Given the description of an element on the screen output the (x, y) to click on. 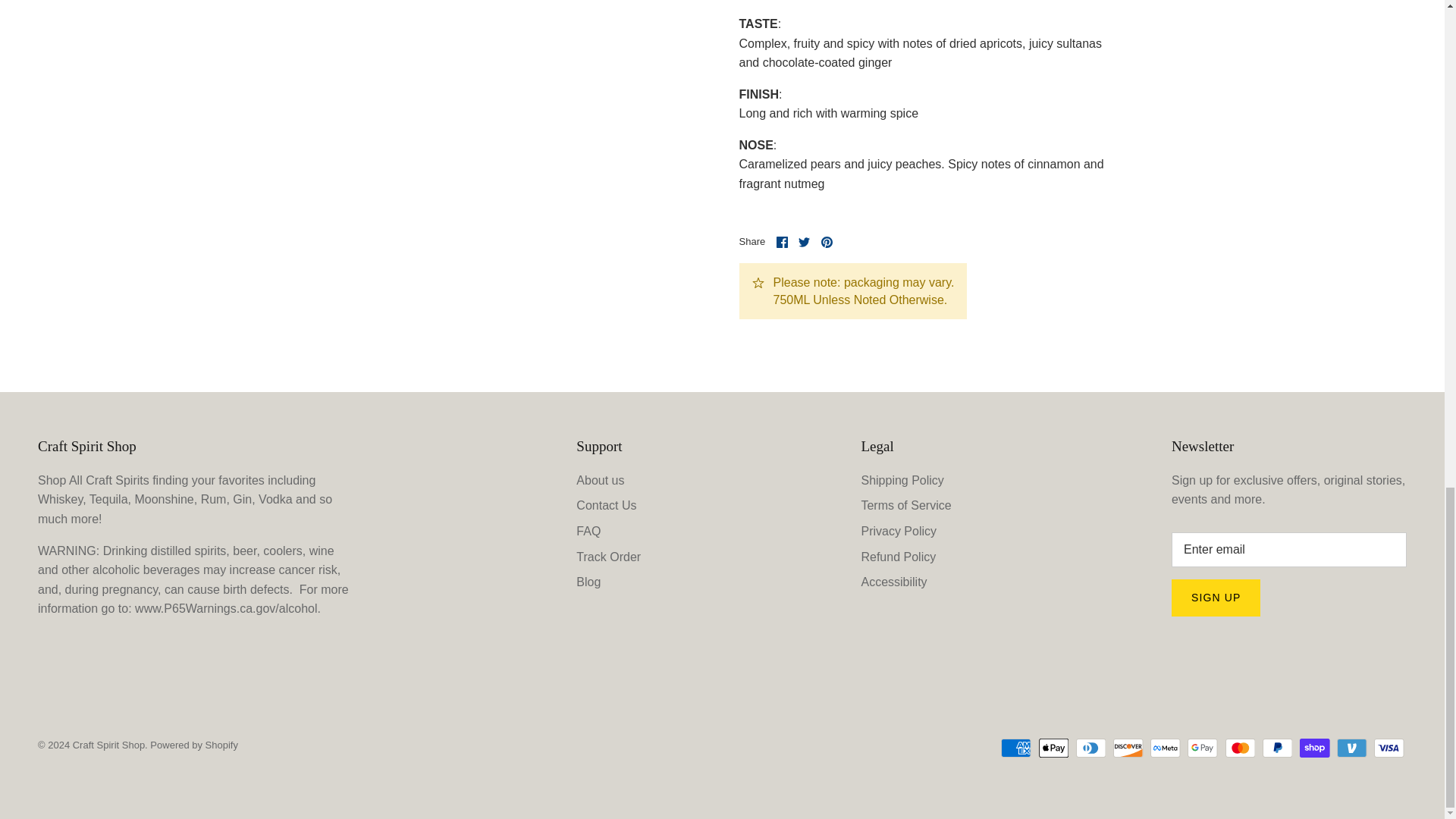
Diners Club (1090, 747)
PayPal (1277, 747)
Apple Pay (1053, 747)
Meta Pay (1165, 747)
Pinterest (826, 242)
Discover (1127, 747)
American Express (1015, 747)
Twitter (803, 242)
WARNING: Drinking (227, 608)
Facebook (781, 242)
Mastercard (1240, 747)
Google Pay (1202, 747)
